Given the description of an element on the screen output the (x, y) to click on. 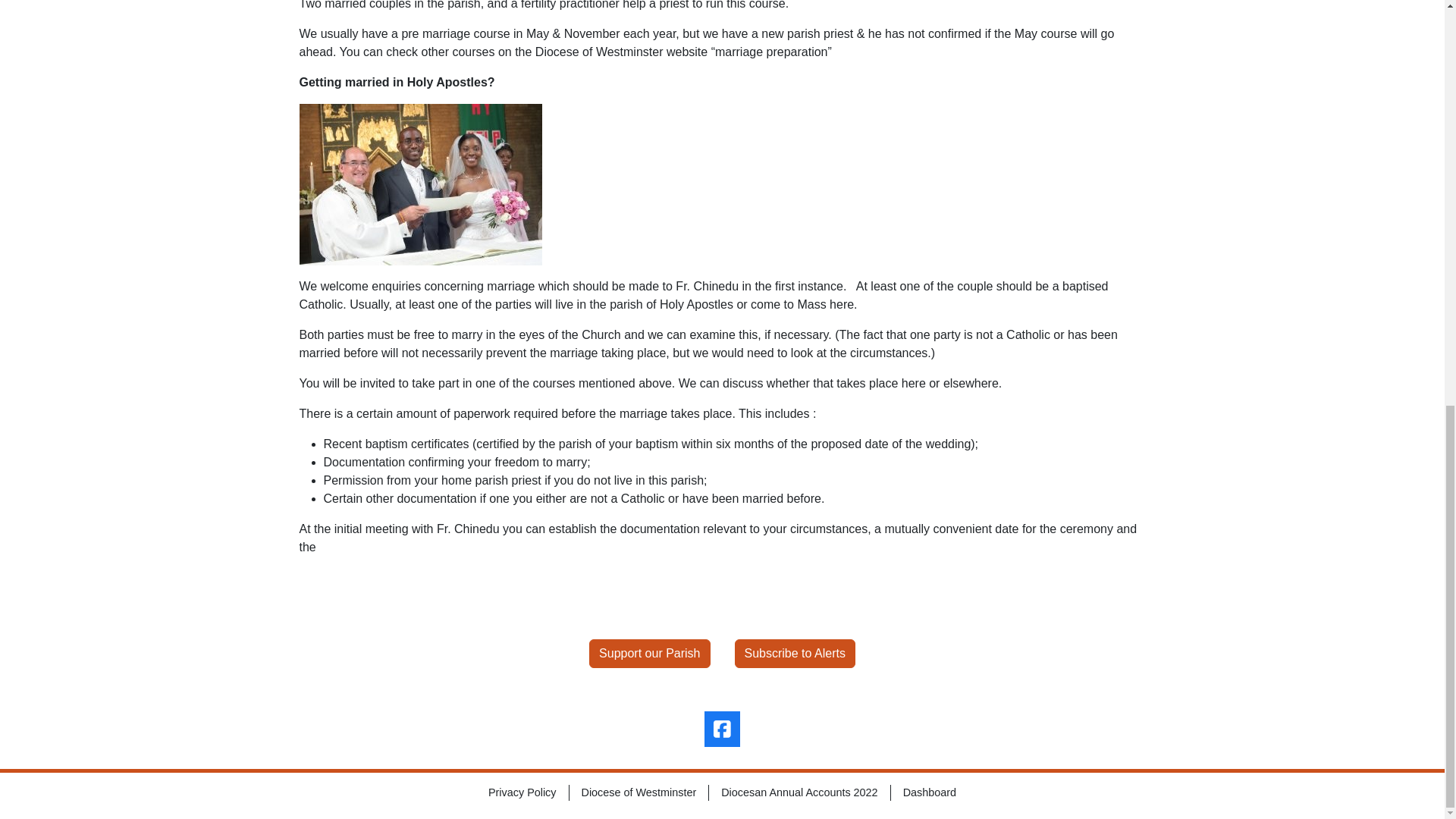
Like our Page (721, 728)
Subscribe to Alerts (793, 653)
Privacy Policy (522, 792)
Support our Parish (649, 653)
Dashboard (928, 792)
Diocese of Westminster (639, 792)
Diocesan Annual Accounts 2022 (798, 792)
